Given the description of an element on the screen output the (x, y) to click on. 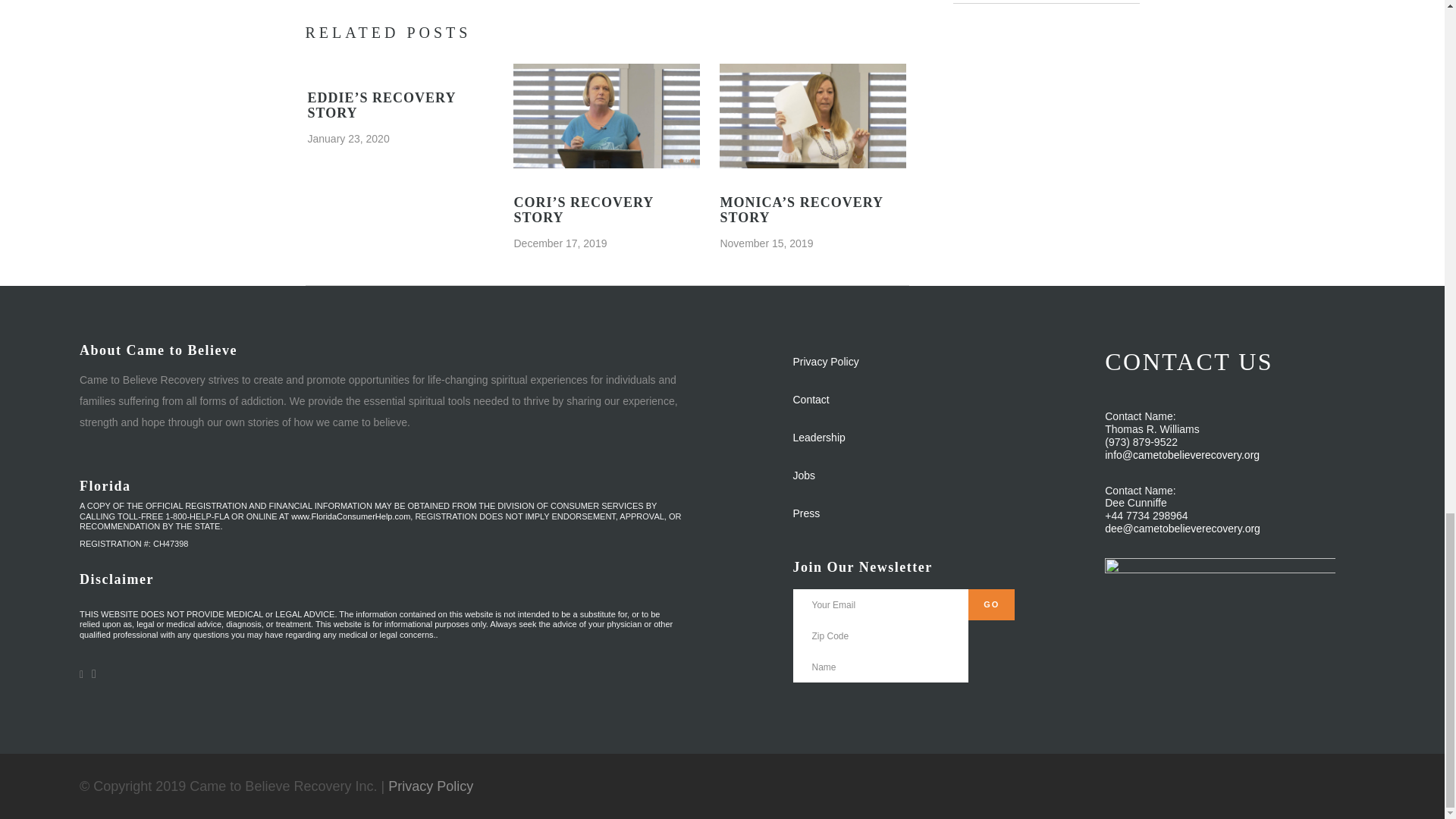
GO (991, 603)
Zip Code (881, 635)
Name (881, 666)
